Given the description of an element on the screen output the (x, y) to click on. 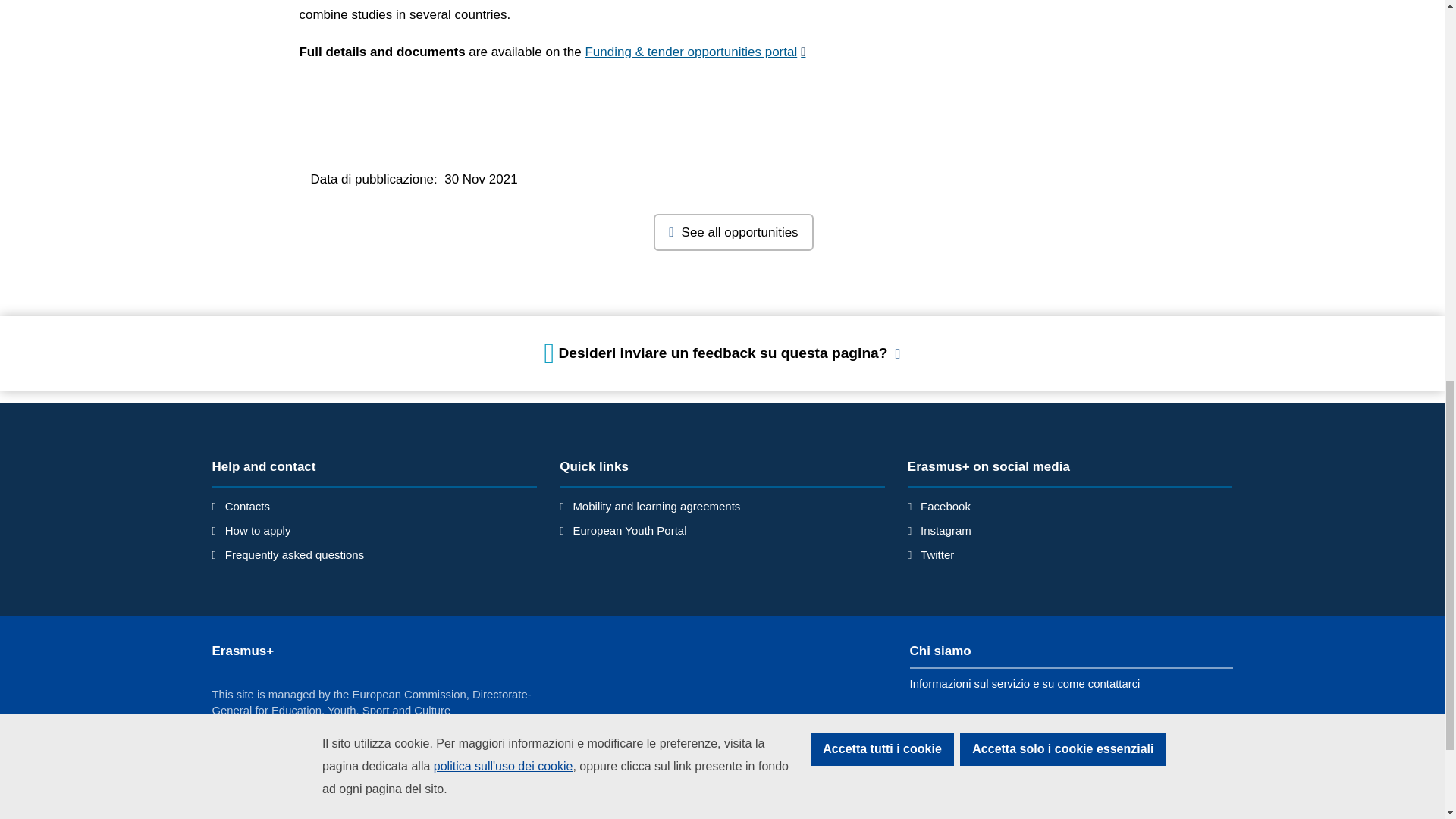
Desideri inviare un feedback su questa pagina? (722, 353)
Instagram (945, 530)
Frequently asked questions (294, 554)
See all opportunities (732, 232)
European Youth Portal (628, 530)
Contacts (247, 505)
Twitter (936, 554)
European Commission (322, 816)
How to apply (258, 530)
Facebook (945, 505)
Mobility and learning agreements (655, 505)
